Given the description of an element on the screen output the (x, y) to click on. 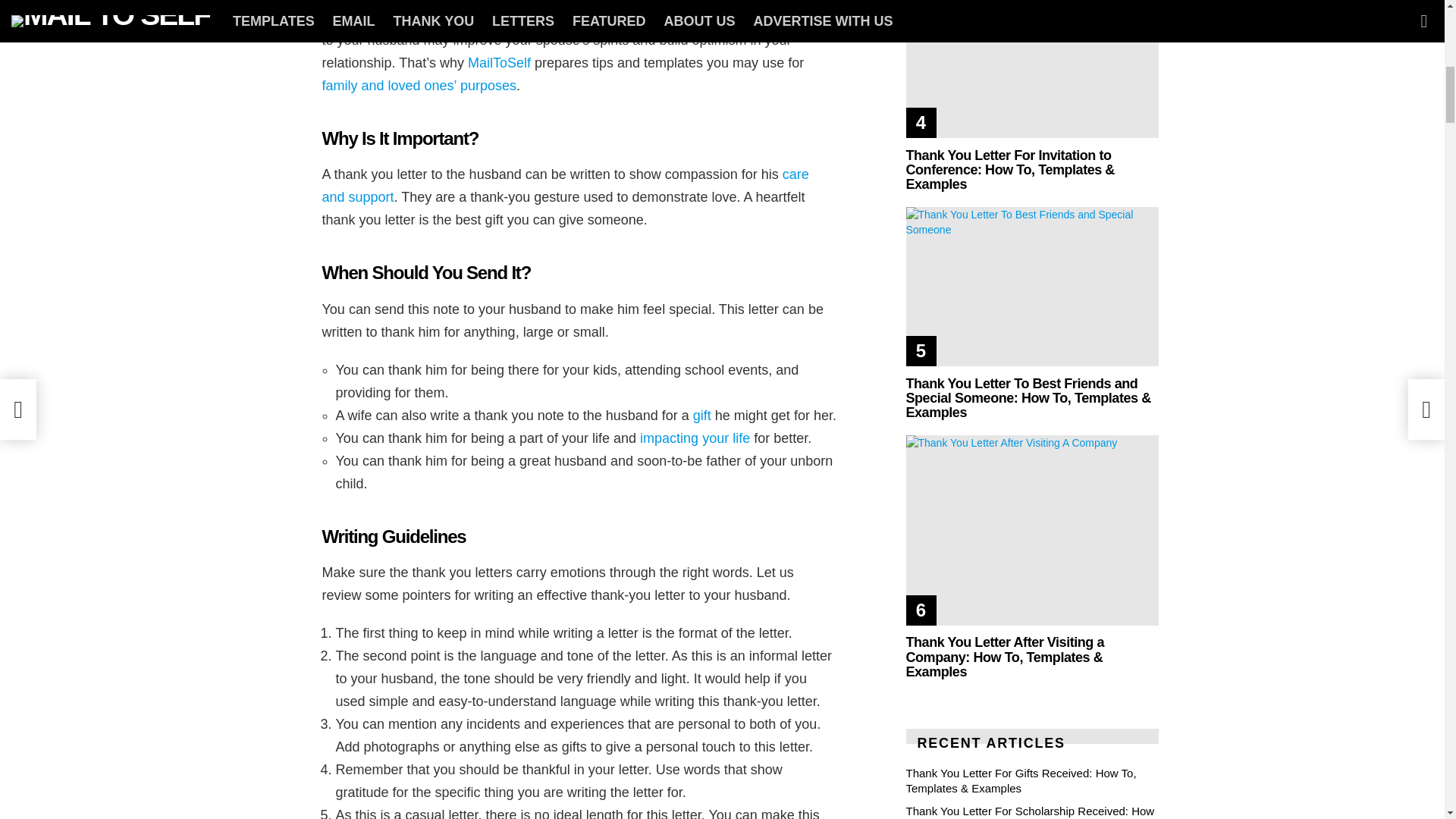
gift (702, 415)
MailToSelf (499, 62)
care and support (564, 185)
impacting your life (694, 437)
